Given the description of an element on the screen output the (x, y) to click on. 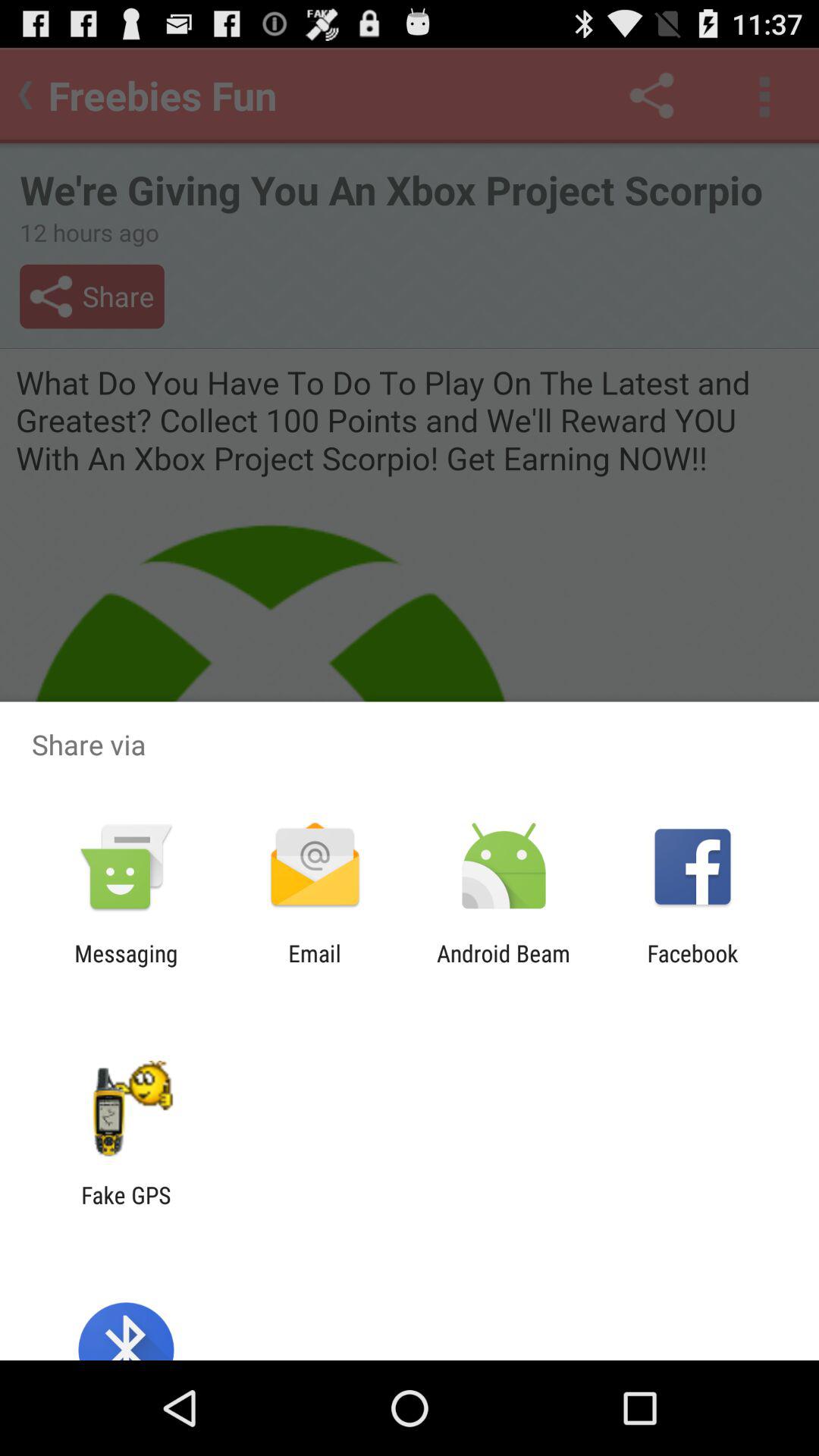
turn off facebook (692, 966)
